Given the description of an element on the screen output the (x, y) to click on. 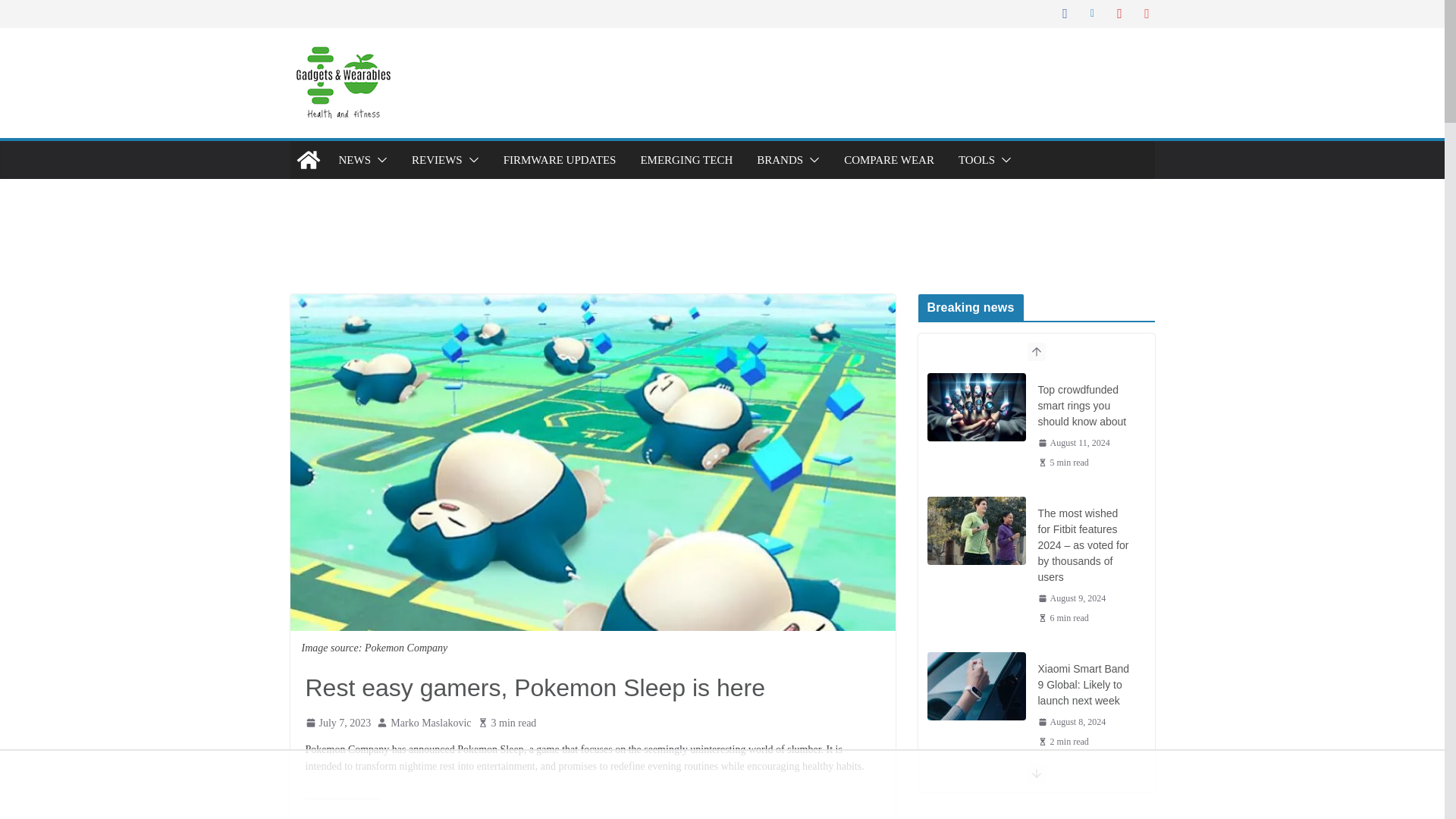
11:24 am (337, 722)
8:34 am (1070, 598)
10:00 pm (1072, 442)
BRANDS (780, 159)
Top crowdfunded smart rings you should know about (975, 407)
REVIEWS (437, 159)
EMERGING TECH (686, 159)
Marko Maslakovic (430, 722)
FIRMWARE UPDATES (559, 159)
Top crowdfunded smart rings you should know about (1084, 405)
